Given the description of an element on the screen output the (x, y) to click on. 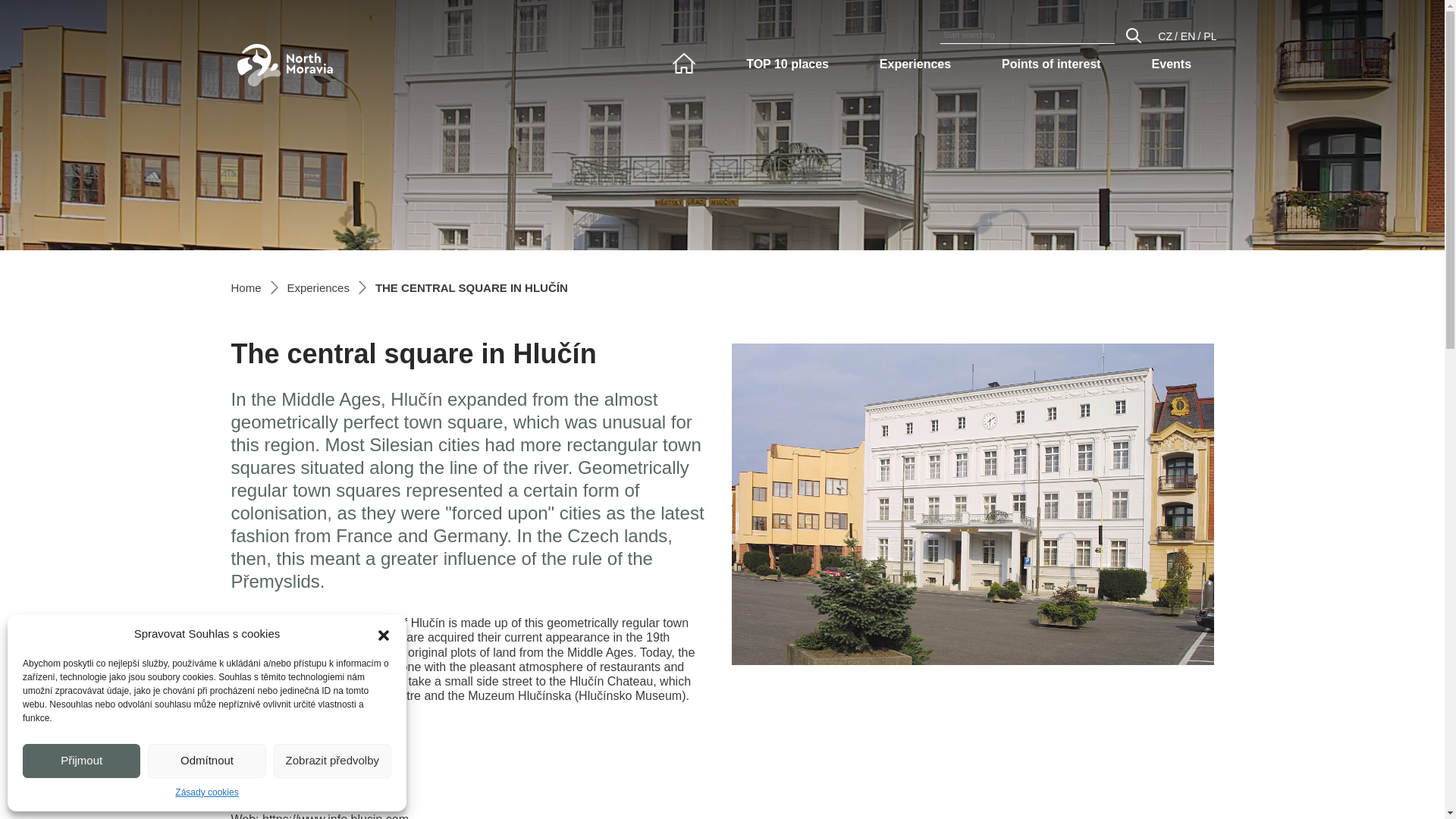
Events (1172, 63)
Points of interest (1051, 63)
TOP 10 places (787, 63)
CZ (1164, 36)
Experiences (317, 287)
PL (1209, 36)
Experiences (914, 63)
Search (1133, 35)
Home (245, 287)
EN (1187, 36)
